Given the description of an element on the screen output the (x, y) to click on. 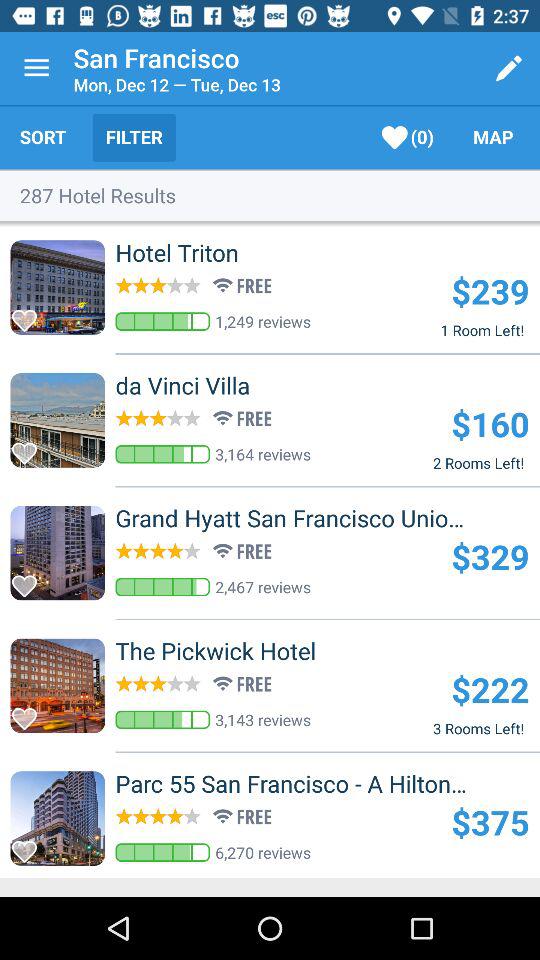
select the icon to the left of the $160 icon (215, 385)
